Given the description of an element on the screen output the (x, y) to click on. 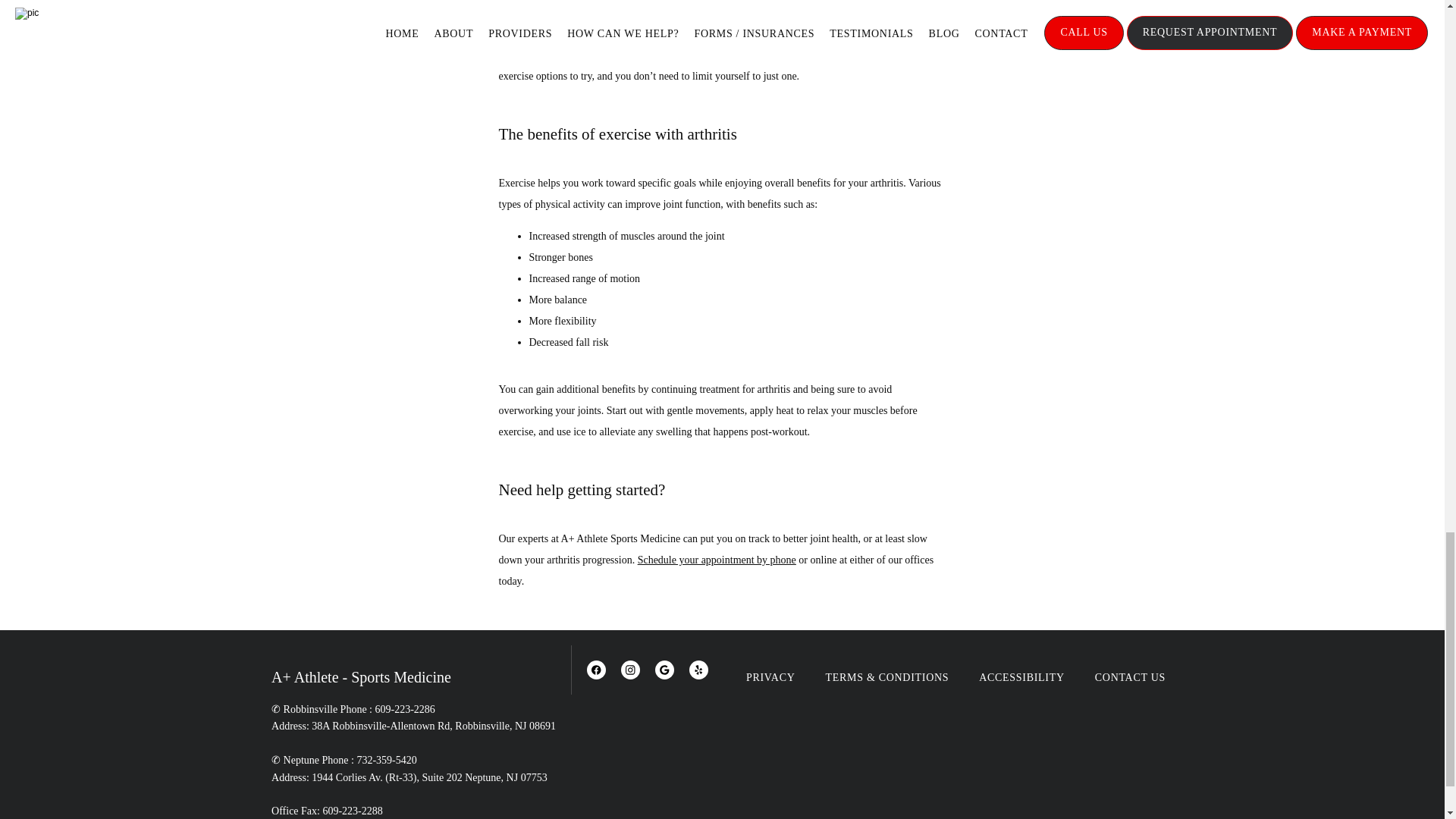
Schedule your appointment by phone (716, 559)
CONTACT US (1130, 677)
ACCESSIBILITY (1021, 677)
PRIVACY (769, 677)
